Given the description of an element on the screen output the (x, y) to click on. 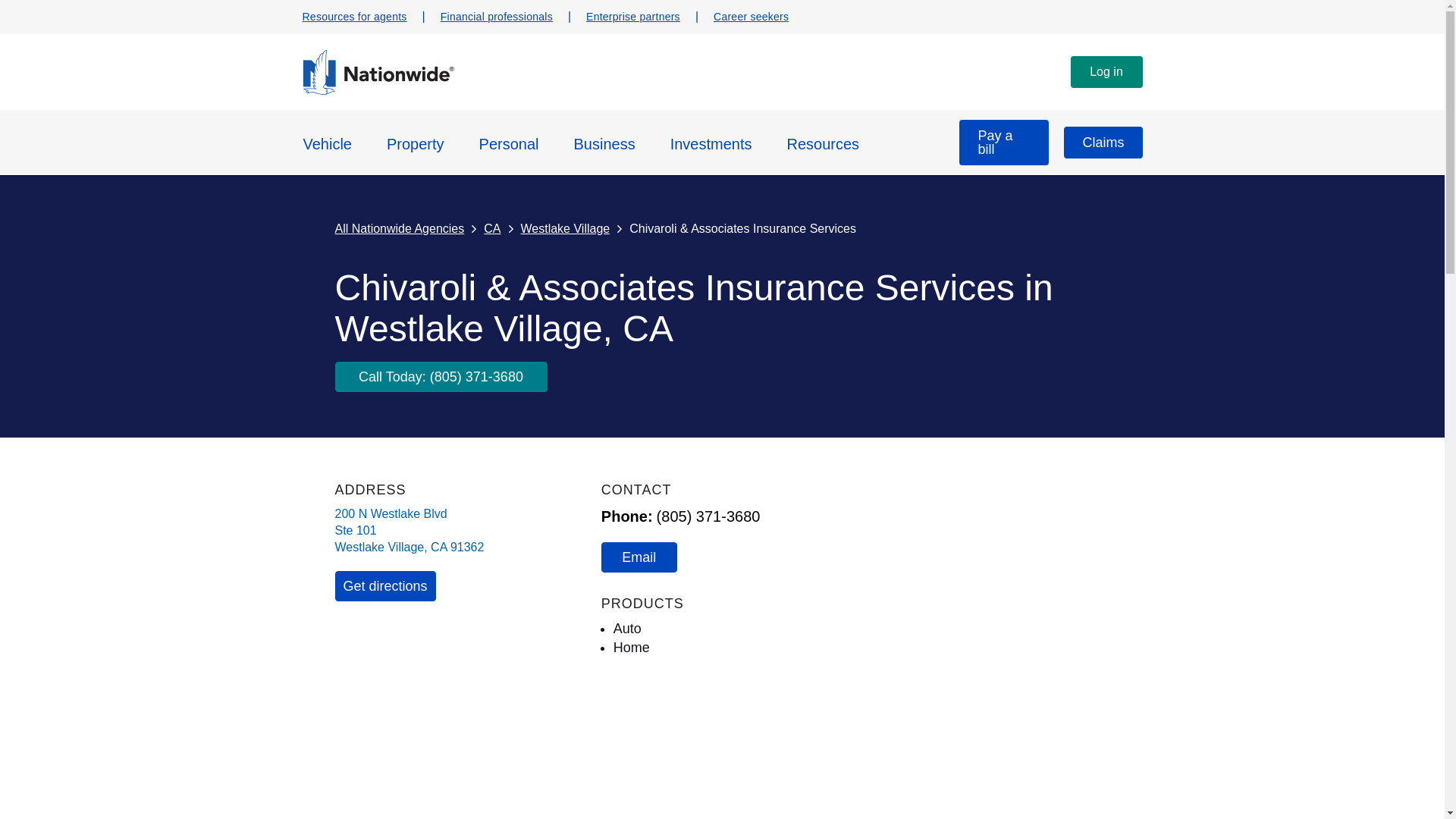
Resources for agents (353, 17)
Log in (1105, 71)
Enterprise partners (632, 17)
Financial professionals (497, 17)
Claims (1102, 142)
Link to Nationwide main website (376, 90)
Pay a bill (1003, 142)
California (438, 546)
Career seekers (751, 17)
